Given the description of an element on the screen output the (x, y) to click on. 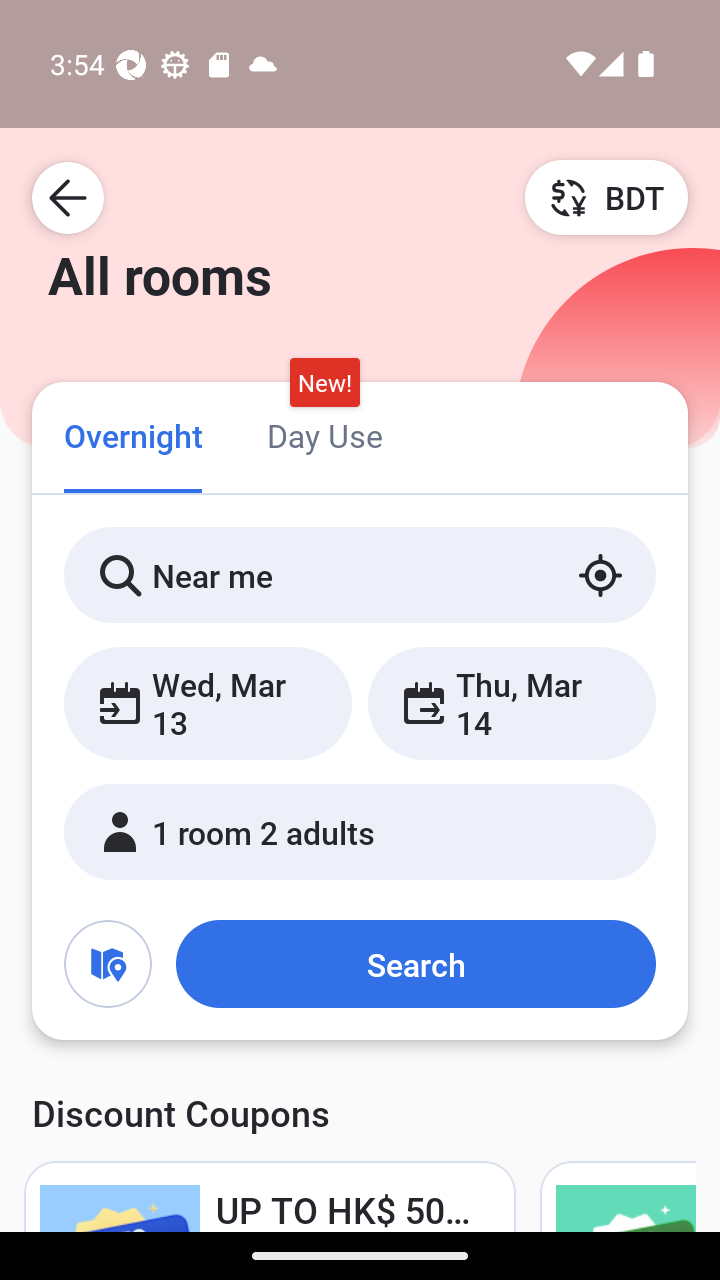
BDT (606, 197)
New! (324, 383)
Day Use (324, 434)
Near me (359, 575)
Wed, Mar 13 (208, 703)
Thu, Mar 14 (511, 703)
1 room 2 adults (359, 831)
Search (415, 964)
